Given the description of an element on the screen output the (x, y) to click on. 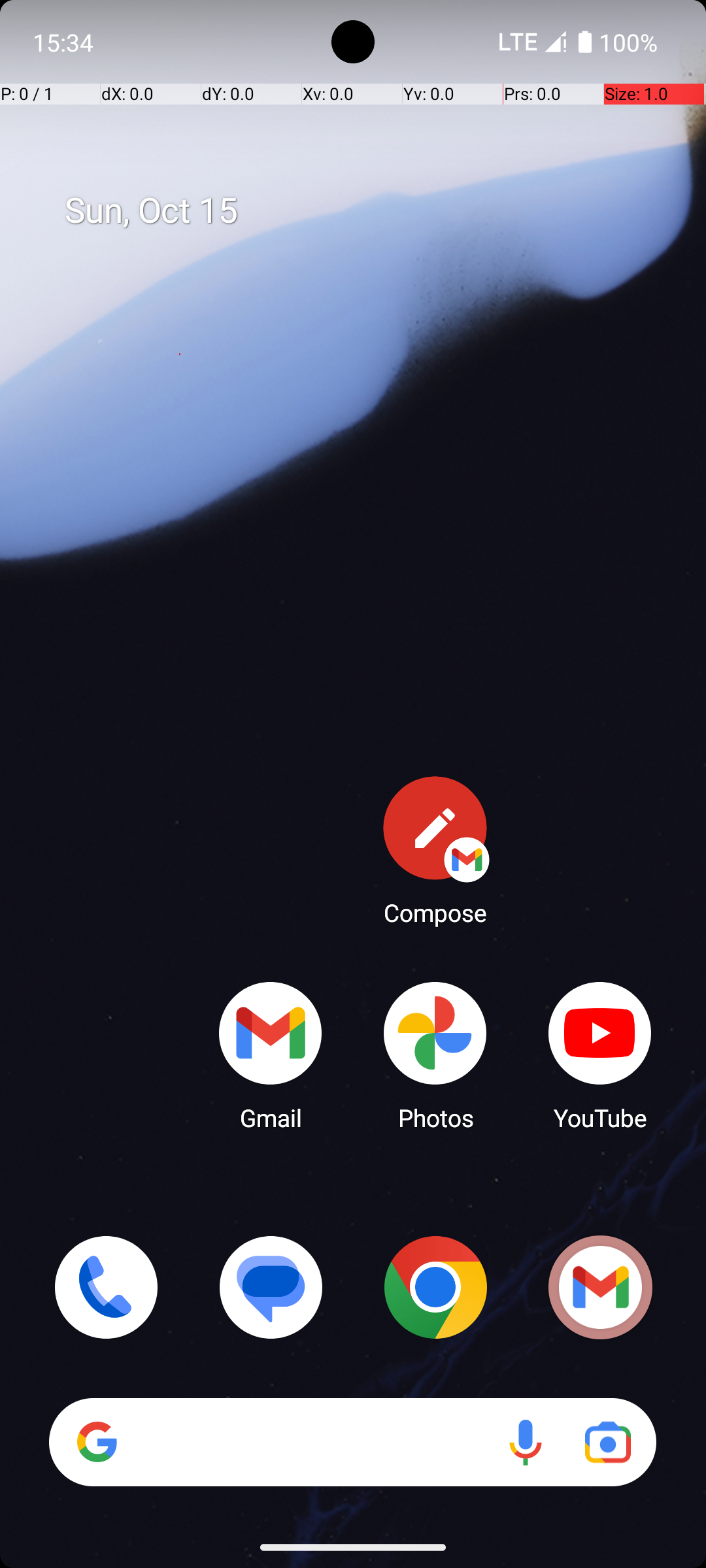
Compose Element type: android.widget.TextView (435, 849)
